Given the description of an element on the screen output the (x, y) to click on. 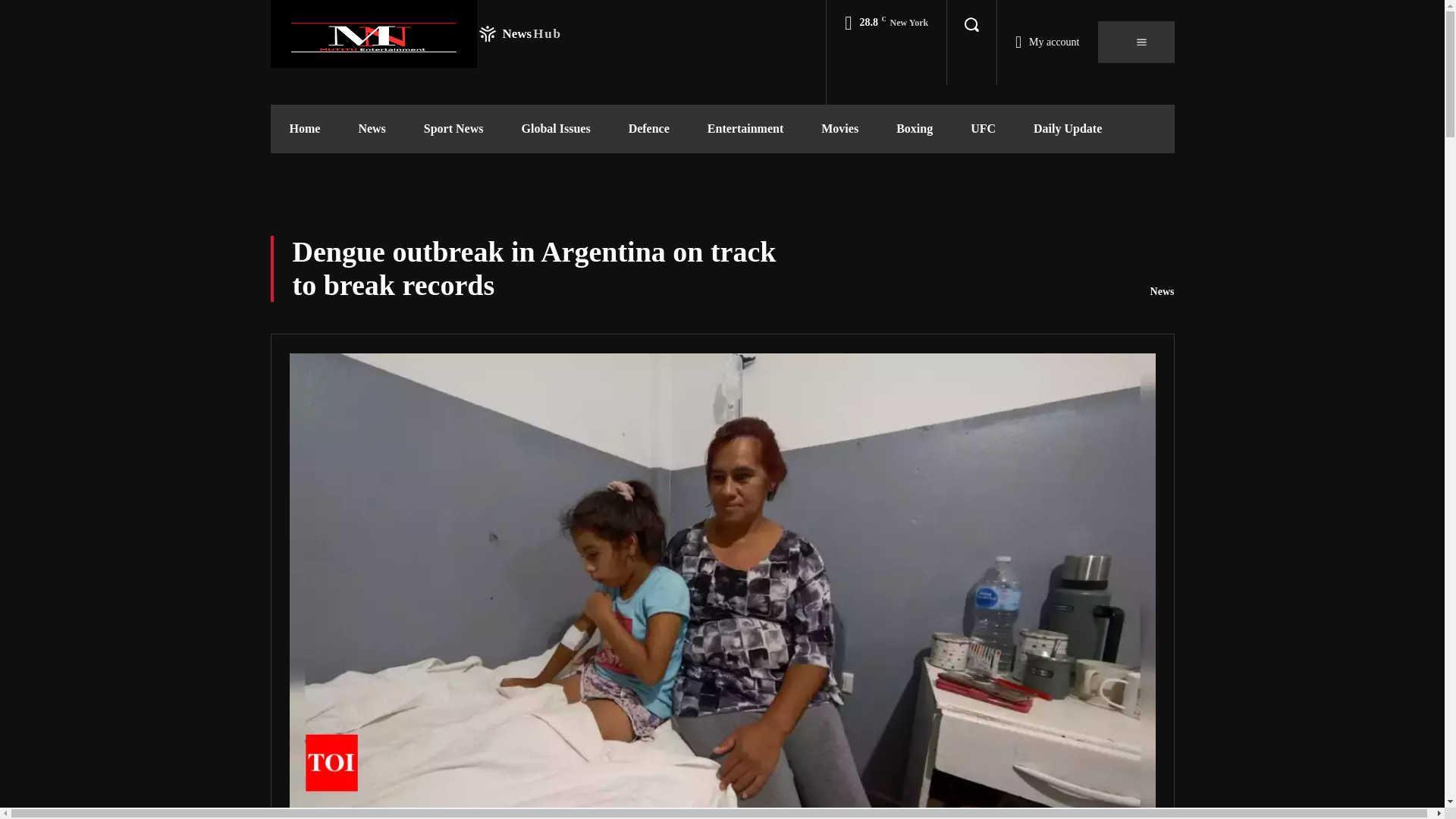
Dengue outbreak in Argentina on track to break records (414, 33)
Sport News (371, 128)
Home (453, 128)
Global Issues (304, 128)
